Given the description of an element on the screen output the (x, y) to click on. 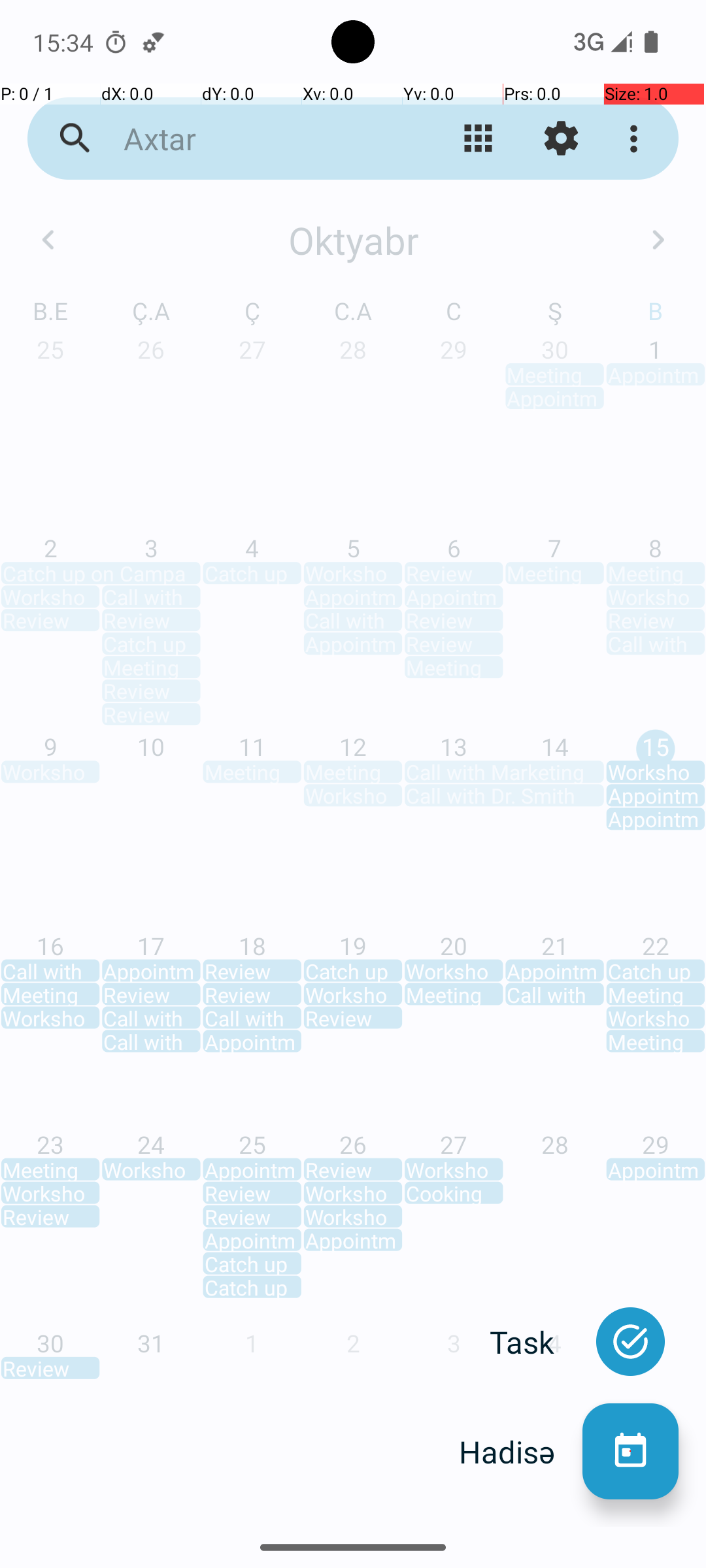
Axtar Element type: android.widget.EditText (252, 138)
Görünüşü dəyiş Element type: android.widget.Button (477, 138)
Digər seçimlər Element type: android.widget.ImageView (636, 138)
Hadisə Element type: android.widget.TextView (520, 1451)
Yeni Hadisə Element type: android.widget.ImageButton (630, 1451)
Oktyabr Element type: android.widget.TextView (352, 239)
